Given the description of an element on the screen output the (x, y) to click on. 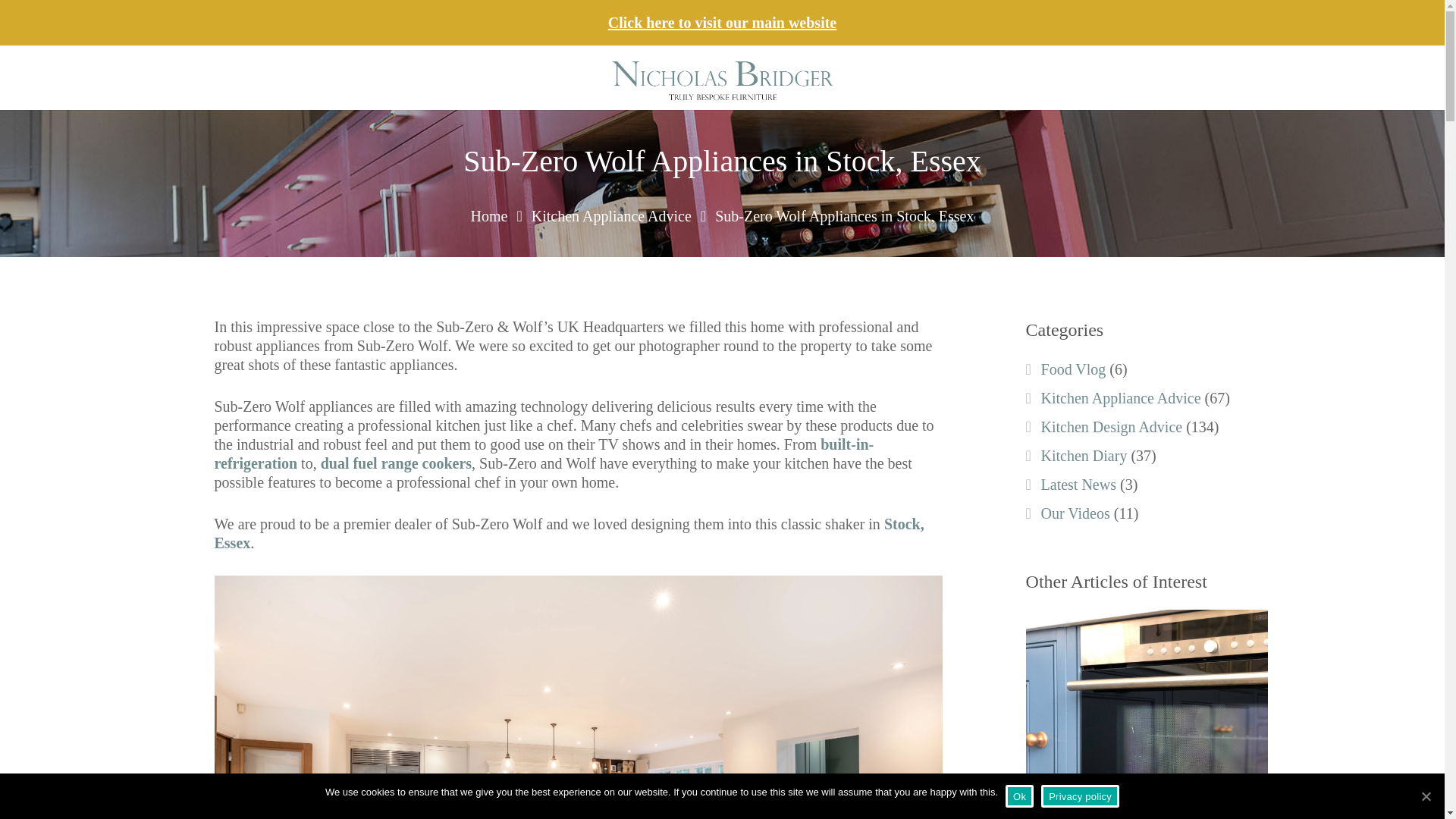
Home (489, 216)
Kitchen Appliance Advice (611, 216)
Sub-Zero Wolf Appliances in Stock, Essex (844, 216)
Food Vlog (1073, 369)
Kitchen Design Advice (1111, 426)
Latest News (1078, 484)
dual fuel range cookers (395, 463)
Stock, Essex (568, 533)
Kitchen Appliance Advice (1121, 397)
Kitchen Diary (1083, 455)
Our Videos (1075, 513)
built-in-refrigeration (543, 453)
